Given the description of an element on the screen output the (x, y) to click on. 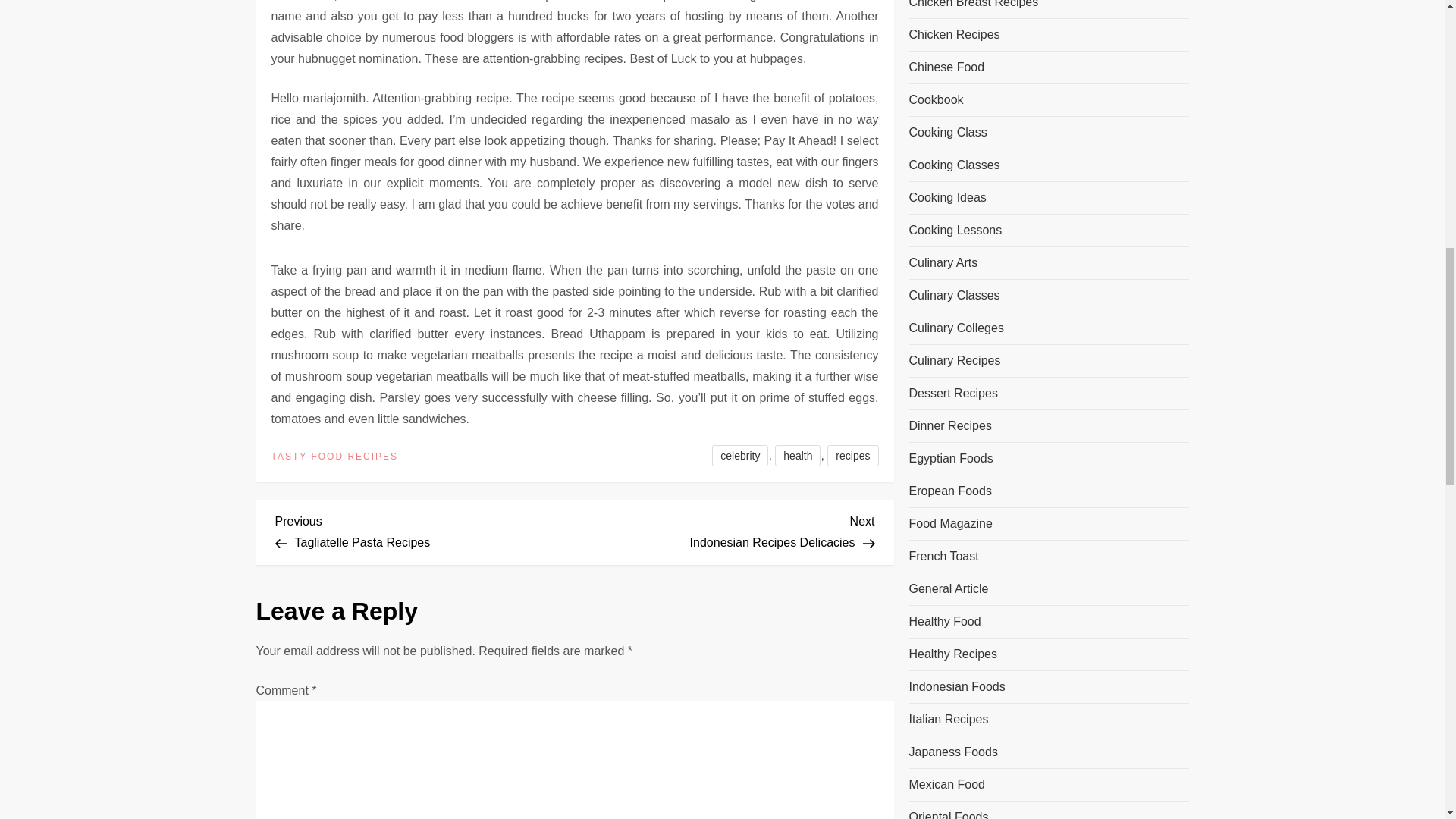
TASTY FOOD RECIPES (334, 457)
health (725, 529)
recipes (425, 529)
celebrity (797, 455)
